Given the description of an element on the screen output the (x, y) to click on. 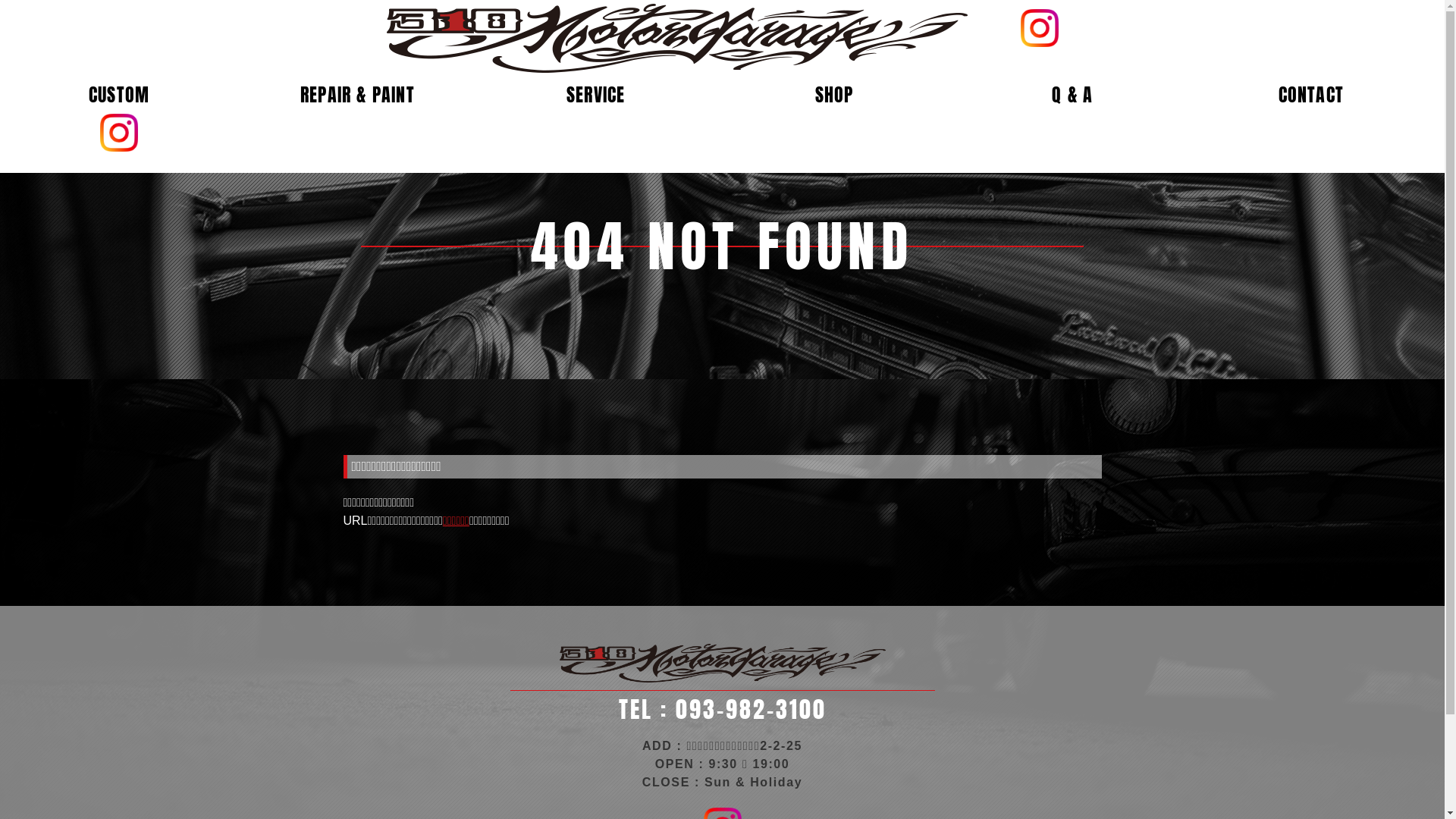
SHOP Element type: text (834, 94)
SERVICE Element type: text (595, 94)
CONTACT Element type: text (1310, 94)
TEL : 093-982-3100 Element type: text (722, 709)
CUSTOM Element type: text (118, 94)
REPAIR & PAINT Element type: text (357, 94)
Q & A Element type: text (1071, 94)
